Given the description of an element on the screen output the (x, y) to click on. 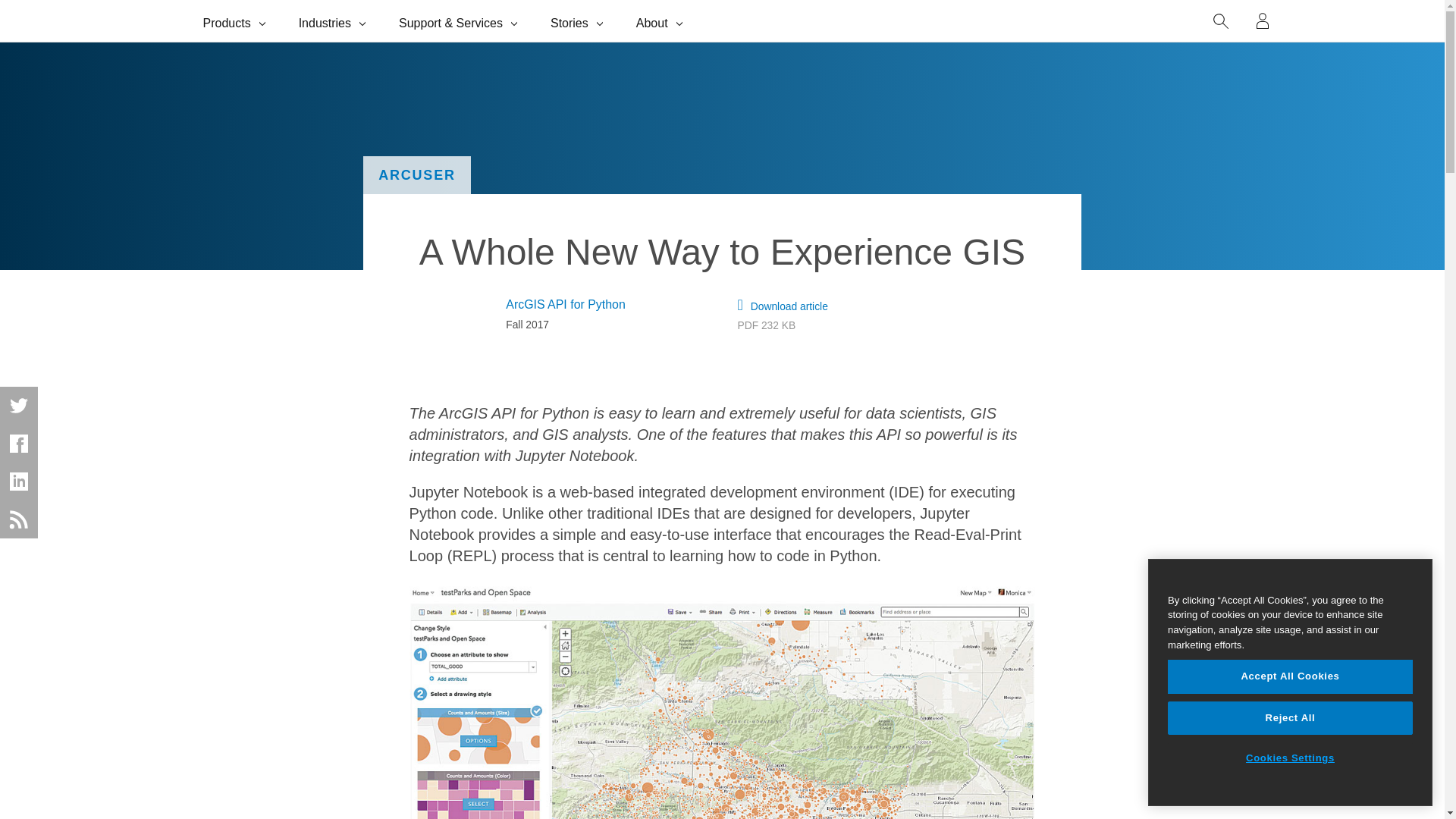
Search (1220, 20)
Industries (333, 20)
Products (235, 20)
Sign In (1262, 20)
